Given the description of an element on the screen output the (x, y) to click on. 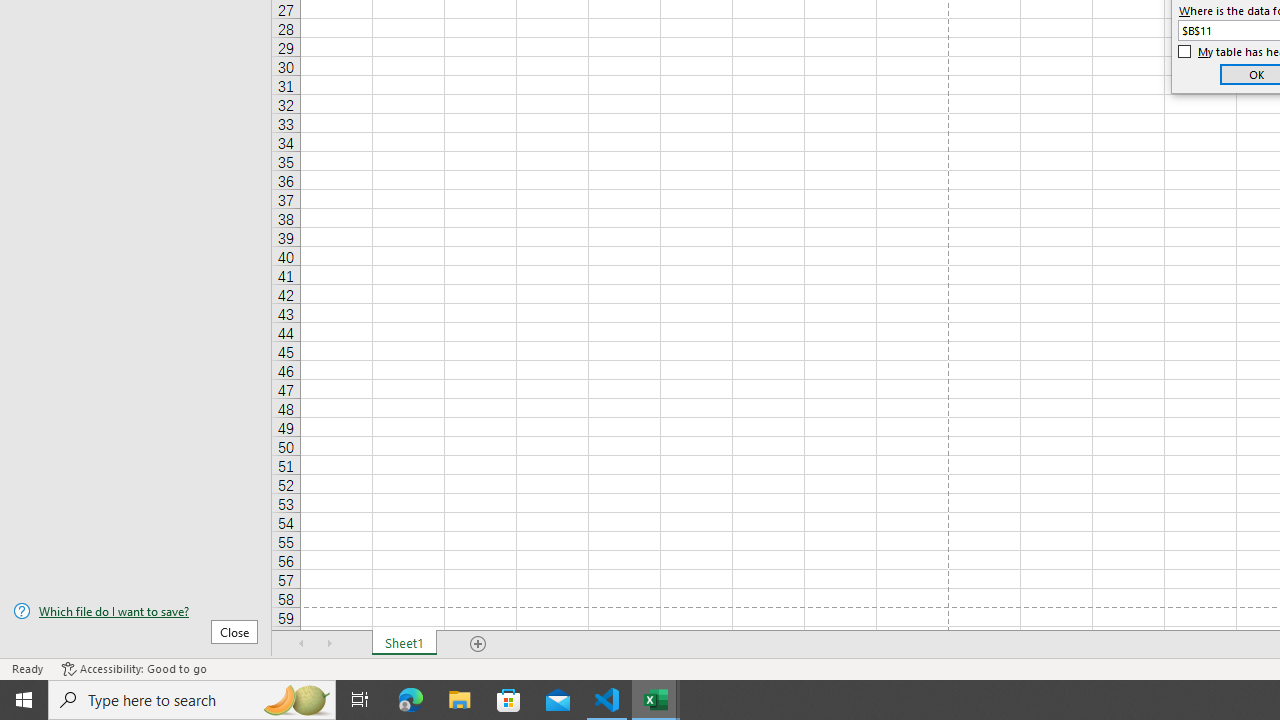
Which file do I want to save? (136, 611)
